Given the description of an element on the screen output the (x, y) to click on. 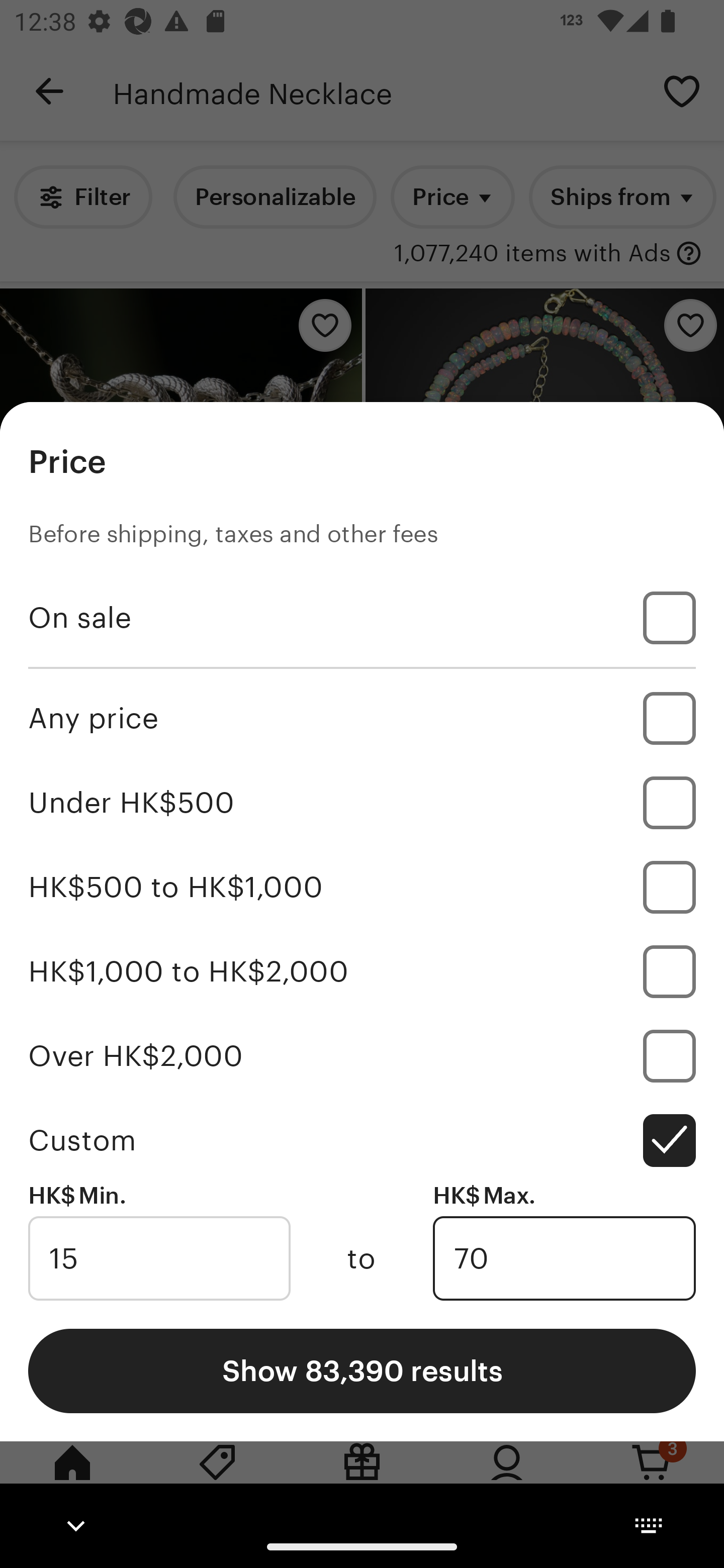
On sale (362, 617)
Any price (362, 717)
Under HK$500 (362, 802)
HK$500 to HK$1,000 (362, 887)
HK$1,000 to HK$2,000 (362, 970)
Over HK$2,000 (362, 1054)
Custom (362, 1139)
15 (159, 1257)
70 (563, 1257)
Show 83,390 results (361, 1370)
